Given the description of an element on the screen output the (x, y) to click on. 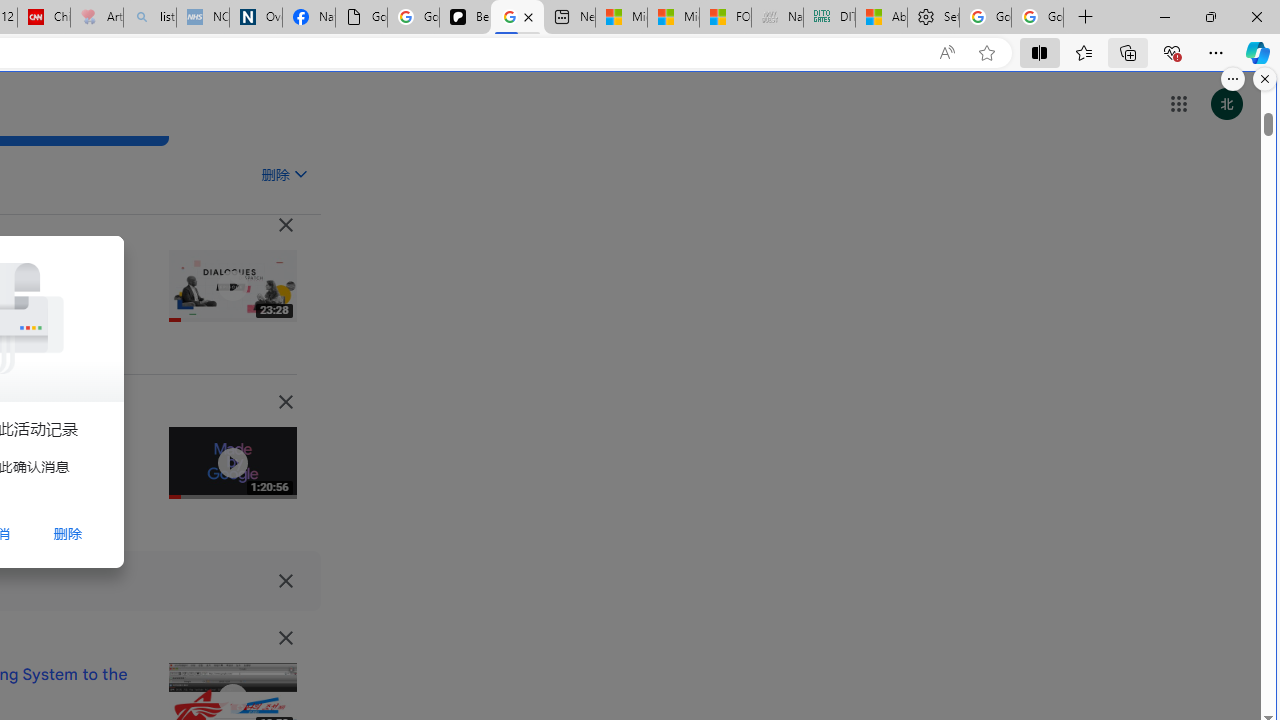
Class: asE2Ub NMm5M (299, 173)
list of asthma inhalers uk - Search - Sleeping (150, 17)
Class: TjcpUd NMm5M (285, 637)
Be Smart | creating Science videos | Patreon (465, 17)
Navy Quest (776, 17)
Class: DI7Mnf NMm5M (285, 580)
